Given the description of an element on the screen output the (x, y) to click on. 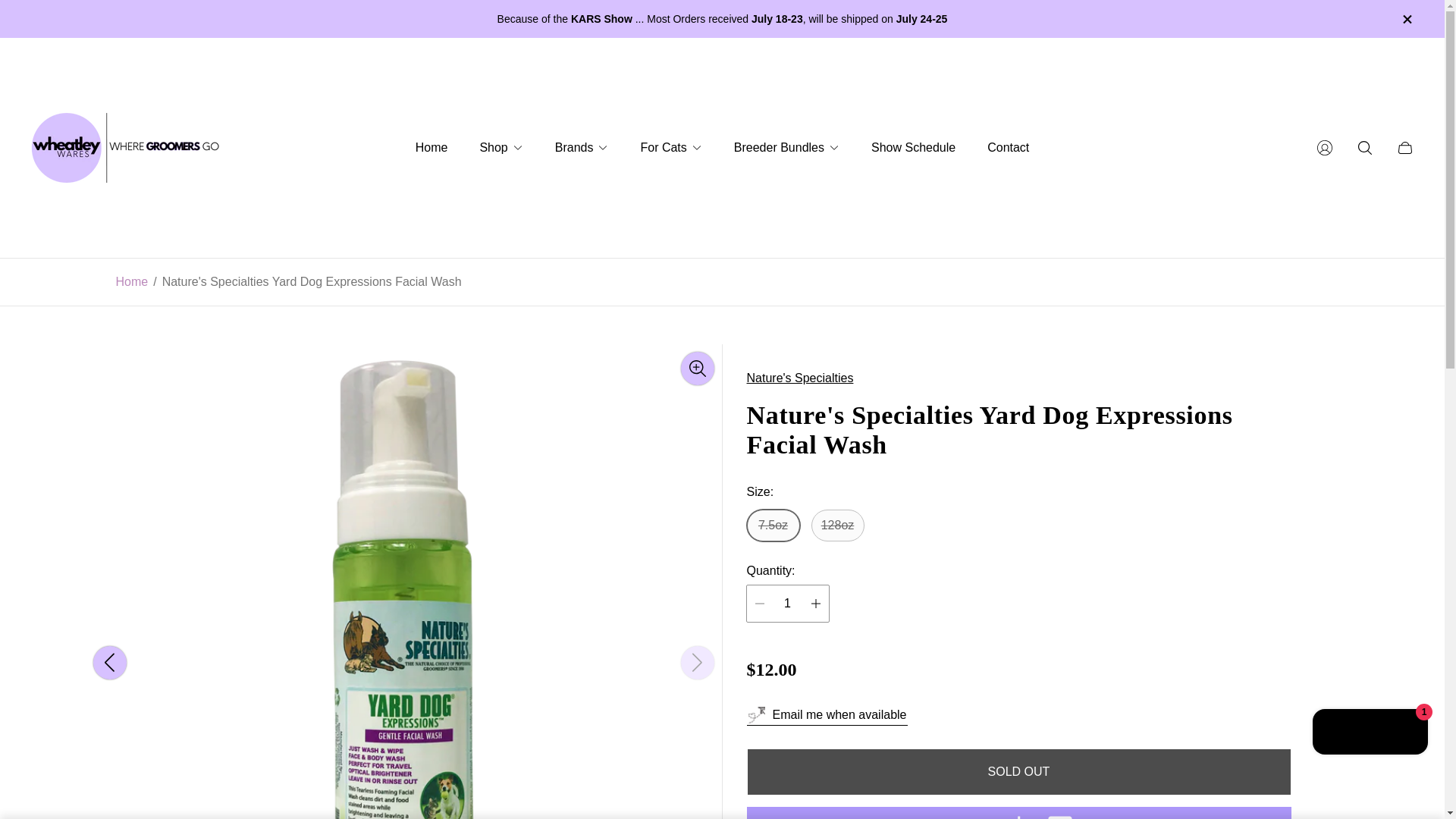
Shopify online store chat (1369, 733)
Home (431, 148)
Shop (500, 148)
Home (131, 281)
